Given the description of an element on the screen output the (x, y) to click on. 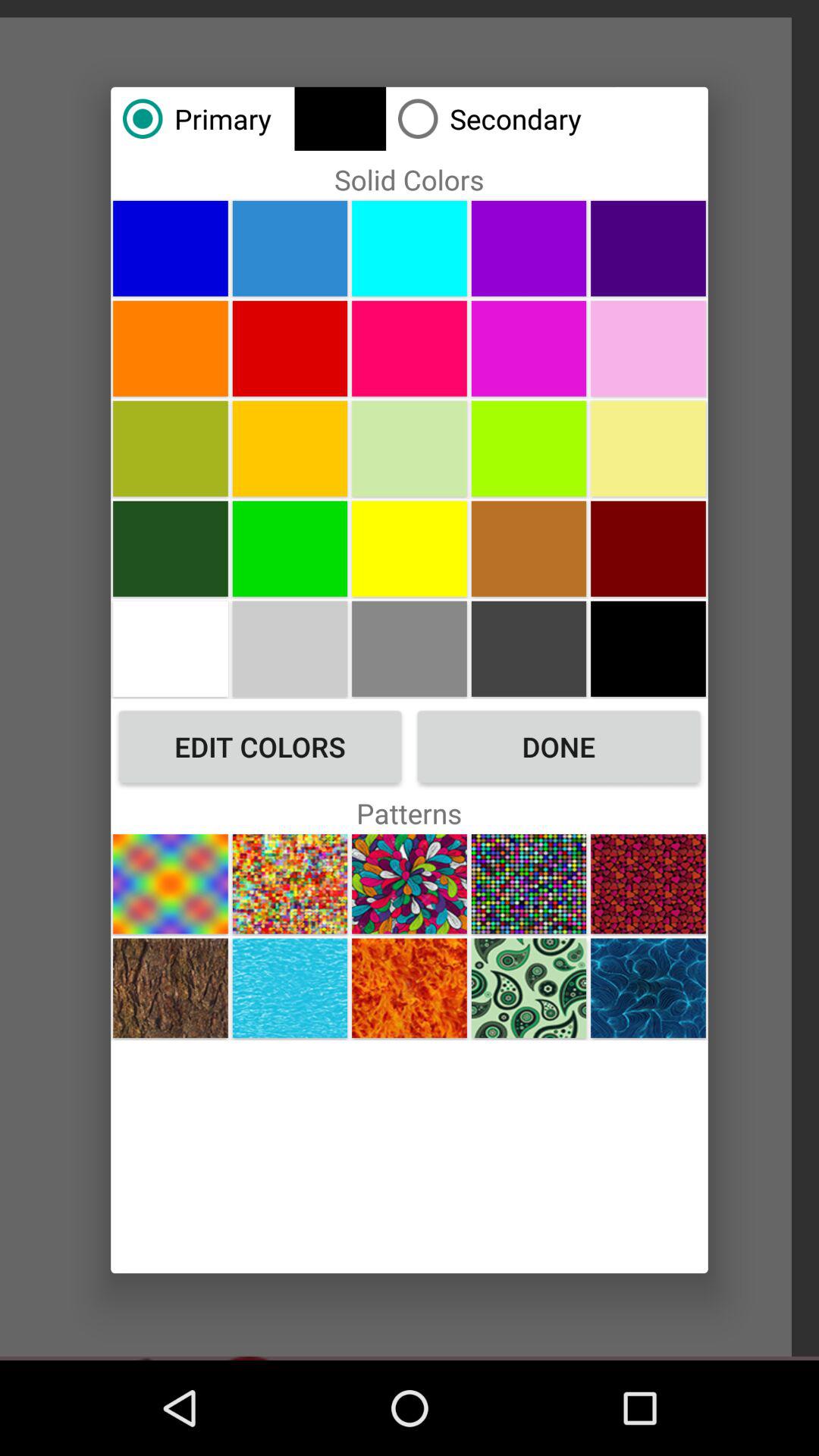
select pattern (289, 883)
